Given the description of an element on the screen output the (x, y) to click on. 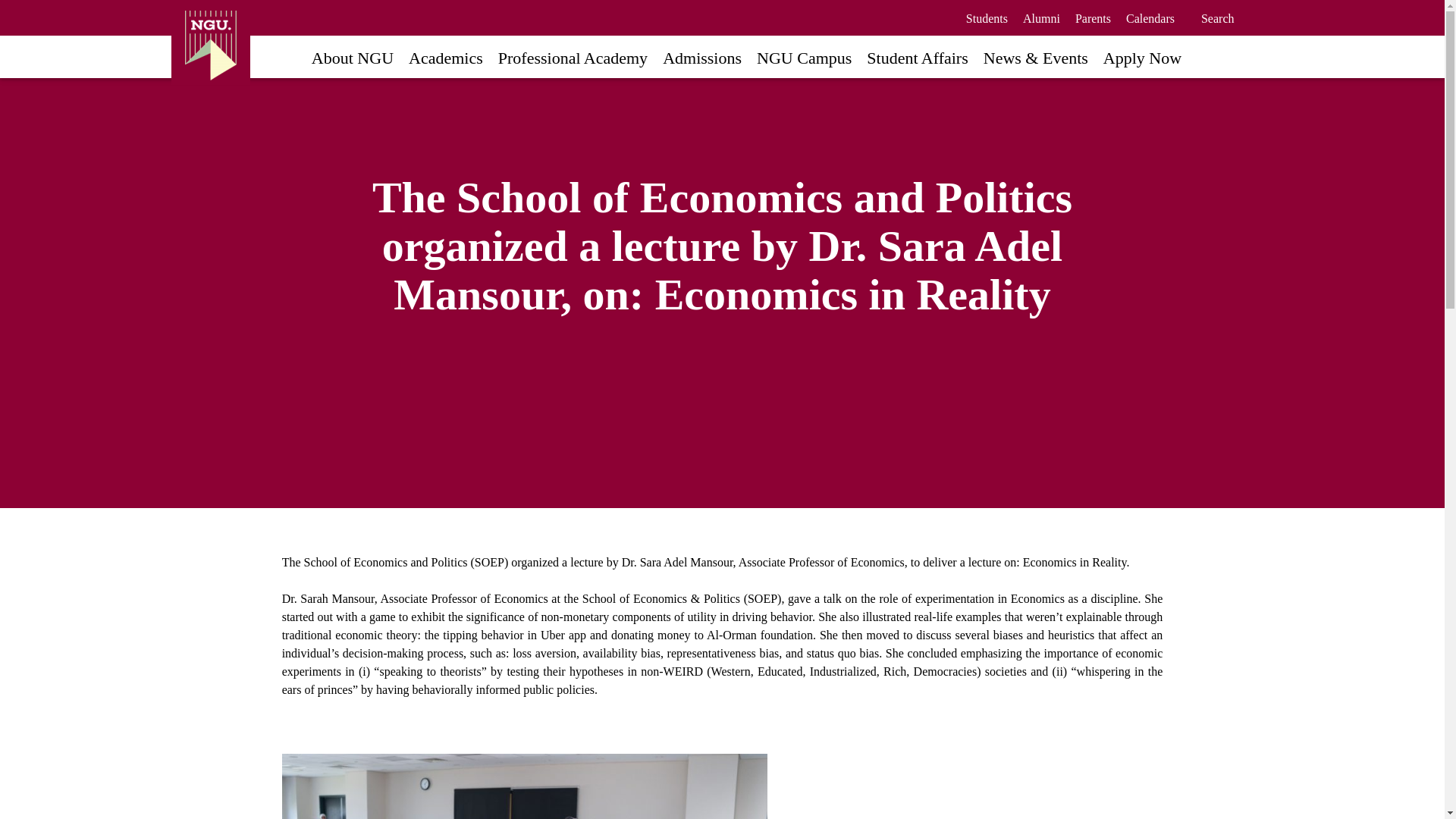
Parents (1092, 18)
Students (986, 18)
Academics (446, 56)
Search (1217, 18)
NGU Campus (804, 56)
Alumni (1041, 18)
Admissions (701, 56)
Calendars (1149, 18)
About NGU (352, 56)
Professional Academy (572, 56)
